Given the description of an element on the screen output the (x, y) to click on. 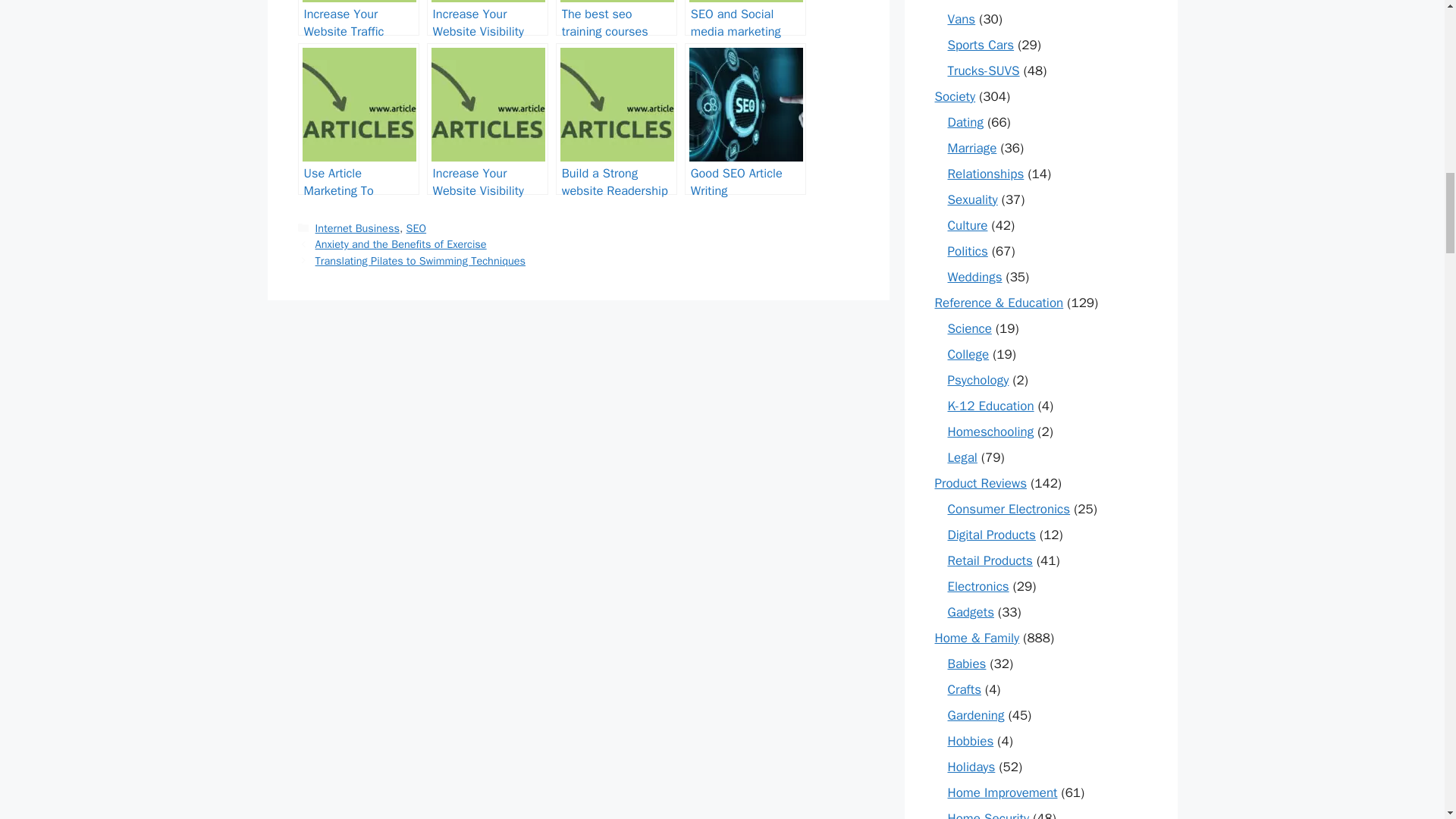
Increase Your Website Visibility with a Primed SEO Company (487, 18)
The best seo training courses india for a perky career (616, 18)
Increase Your Website Traffic through a Leading SEO company (358, 18)
Translating Pilates to Swimming Techniques (420, 260)
SEO (416, 228)
Internet Business (356, 228)
Anxiety and the Benefits of Exercise (400, 243)
Increase Your Website Traffic through a Leading SEO company (358, 18)
The best seo training courses india for a perky career (616, 18)
Increase Your Website Visibility with a Primed SEO Company (487, 18)
